Given the description of an element on the screen output the (x, y) to click on. 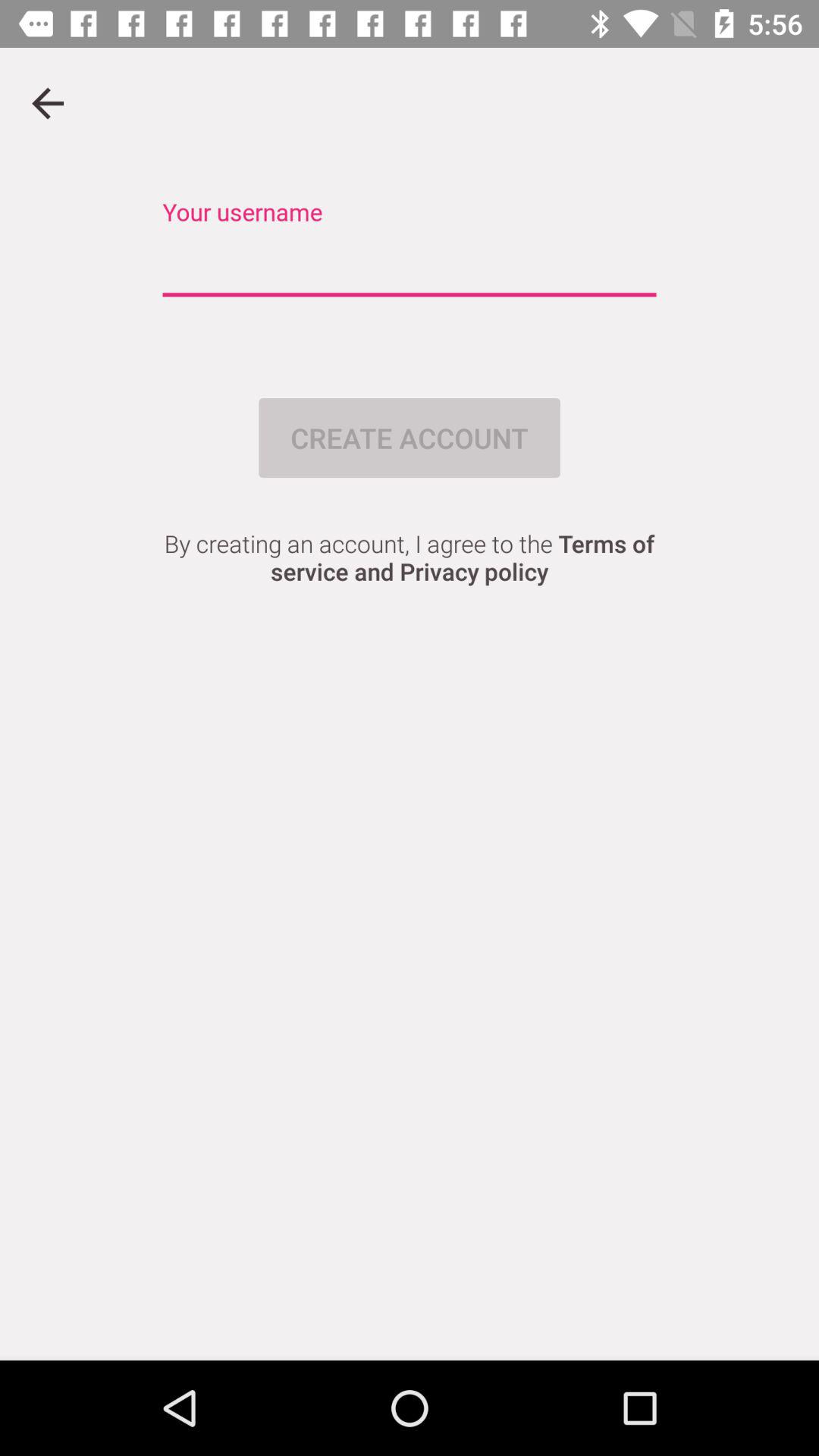
shows empty dash (409, 265)
